Given the description of an element on the screen output the (x, y) to click on. 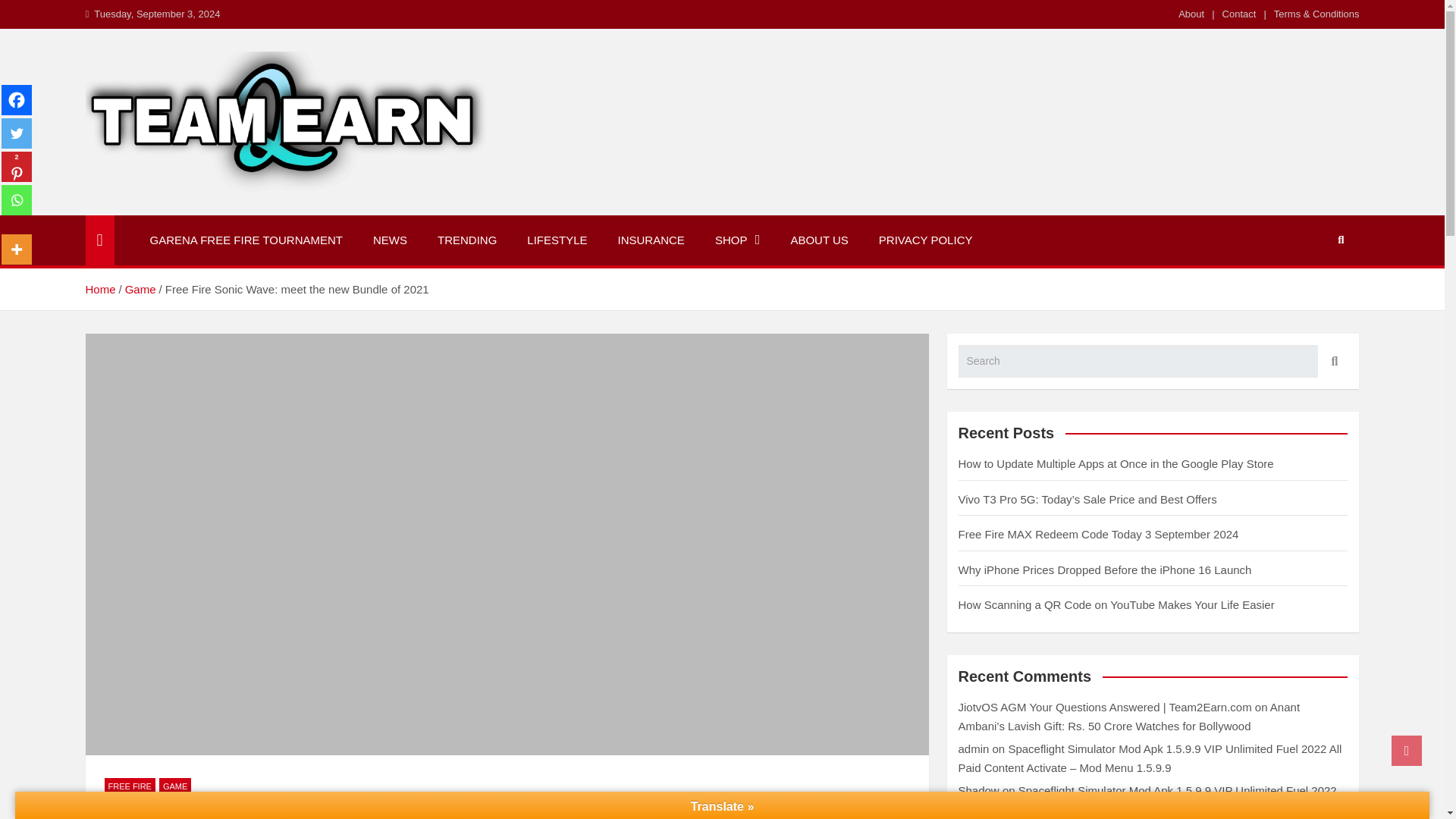
LIFESTYLE (557, 240)
TRENDING (467, 240)
GARENA FREE FIRE TOURNAMENT (246, 240)
ABOUT US (818, 240)
Contact (1239, 13)
SHOP (738, 240)
Pinterest (16, 166)
Twitter (16, 132)
Game (140, 288)
Team2Earn.com (200, 212)
